Given the description of an element on the screen output the (x, y) to click on. 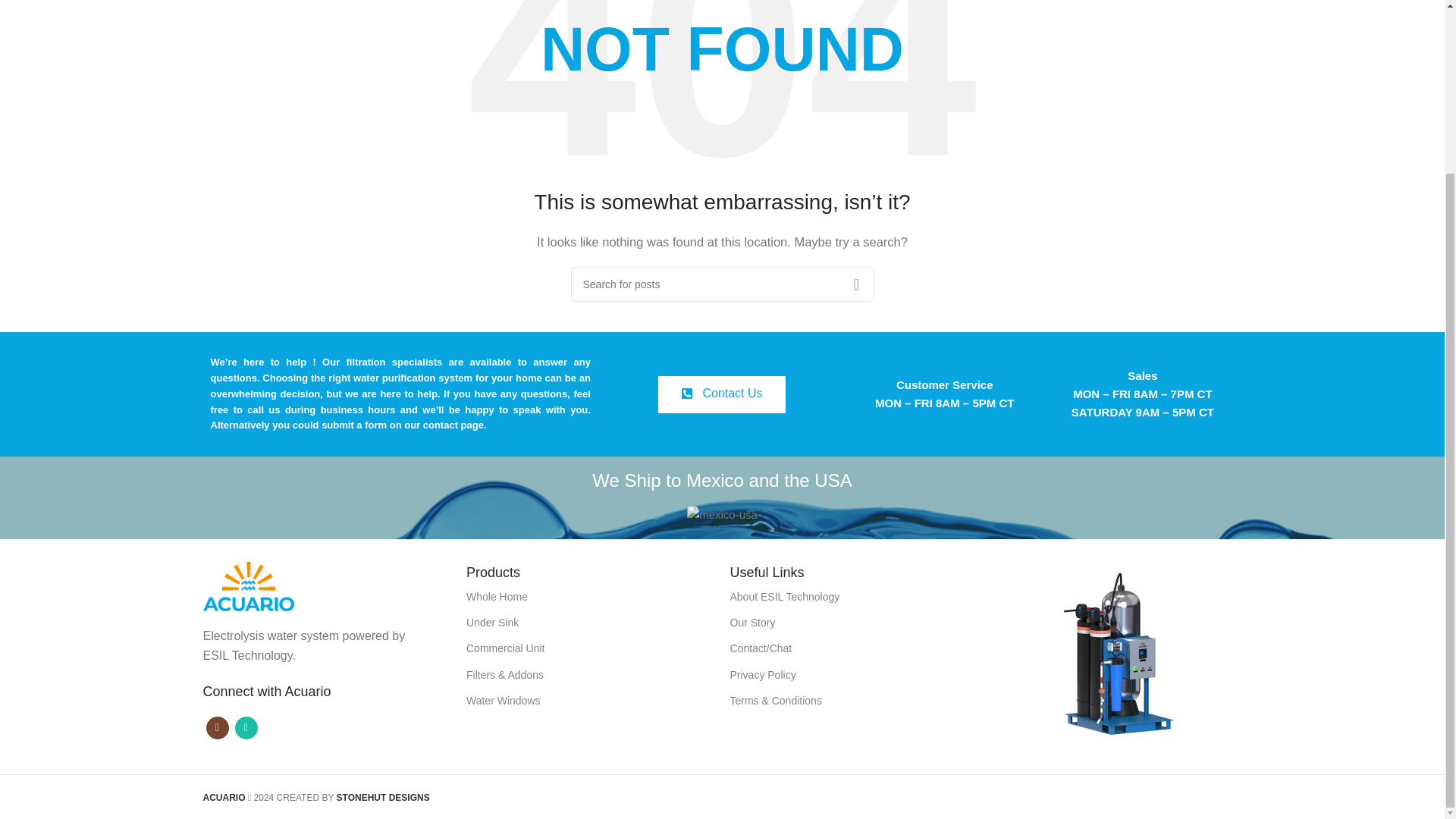
mexico-usa (722, 515)
Contact Us (721, 394)
STONEHUT DESIGNS (382, 797)
Search for posts (721, 284)
Our Story (853, 622)
ACUARIO (224, 797)
Search (855, 284)
Commercial Unit (589, 647)
Under Sink (589, 622)
Whole Home (589, 596)
